Given the description of an element on the screen output the (x, y) to click on. 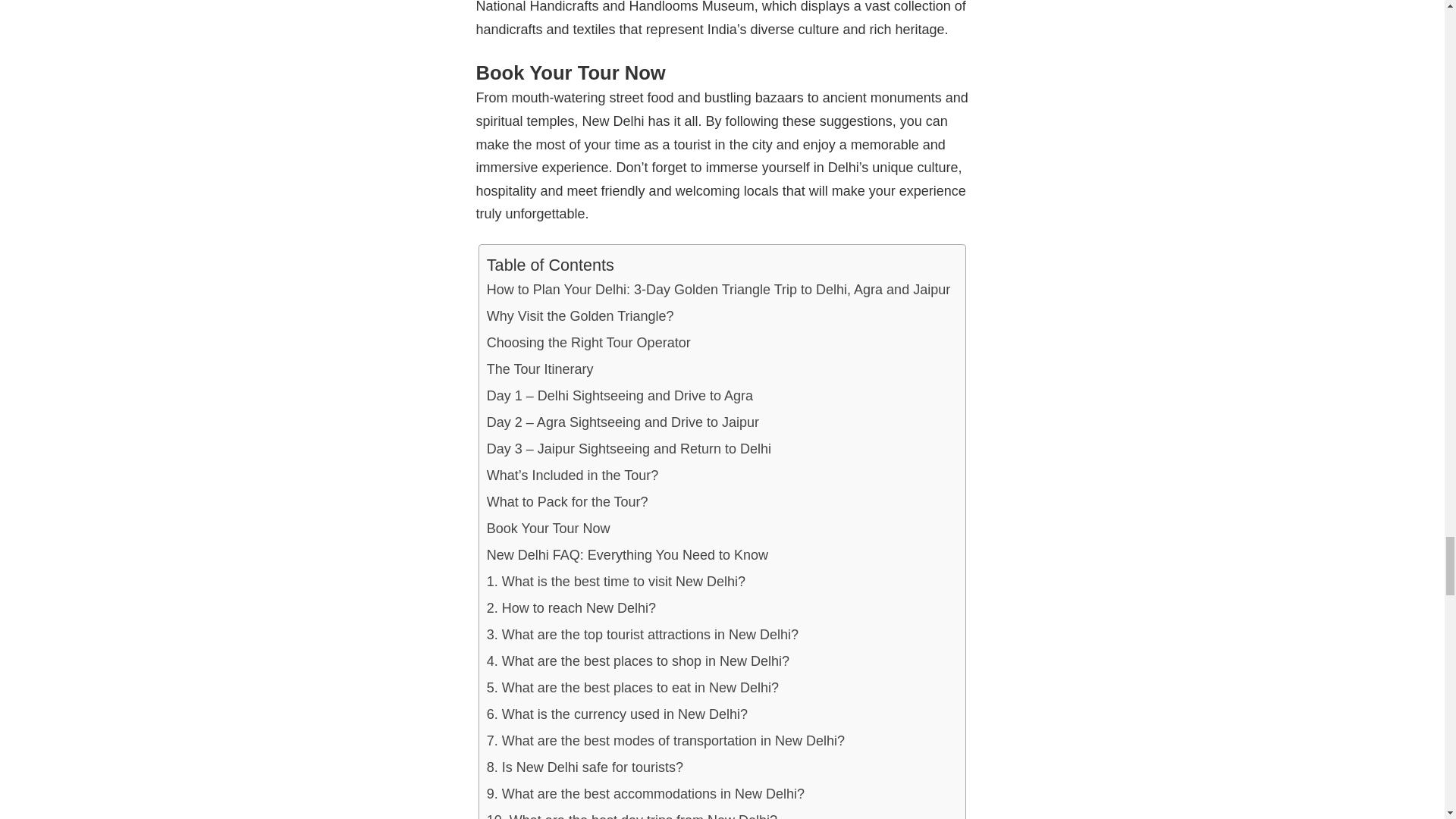
Choosing the Right Tour Operator (588, 343)
1. What is the best time to visit New Delhi? (615, 581)
The Tour Itinerary (540, 369)
Why Visit the Golden Triangle? (580, 316)
7. What are the best modes of transportation in New Delhi? (665, 741)
10. What are the best day trips from New Delhi? (631, 813)
8. Is New Delhi safe for tourists? (584, 767)
Book Your Tour Now (548, 528)
1. What is the best time to visit New Delhi? (615, 581)
5. What are the best places to eat in New Delhi? (632, 687)
6. What is the currency used in New Delhi? (617, 714)
Why Visit the Golden Triangle? (580, 316)
What to Pack for the Tour? (566, 501)
9. What are the best accommodations in New Delhi? (645, 794)
